Given the description of an element on the screen output the (x, y) to click on. 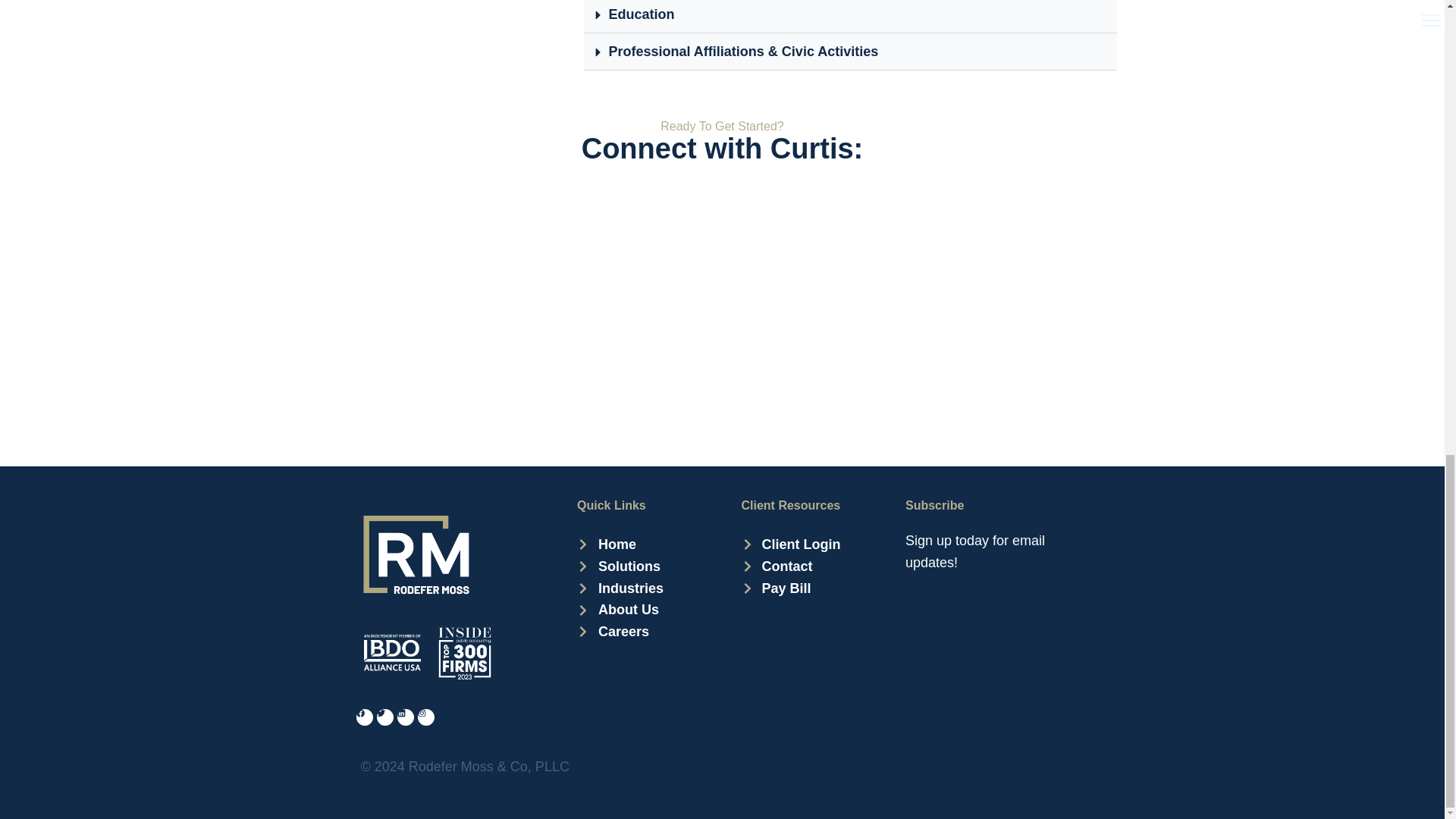
Contact (791, 567)
Client Login (791, 544)
Pay Bill (791, 588)
Industries (619, 588)
Form 1 (997, 666)
Education (641, 14)
About Us (619, 609)
Home (619, 544)
Solutions (619, 567)
Careers (619, 631)
